Given the description of an element on the screen output the (x, y) to click on. 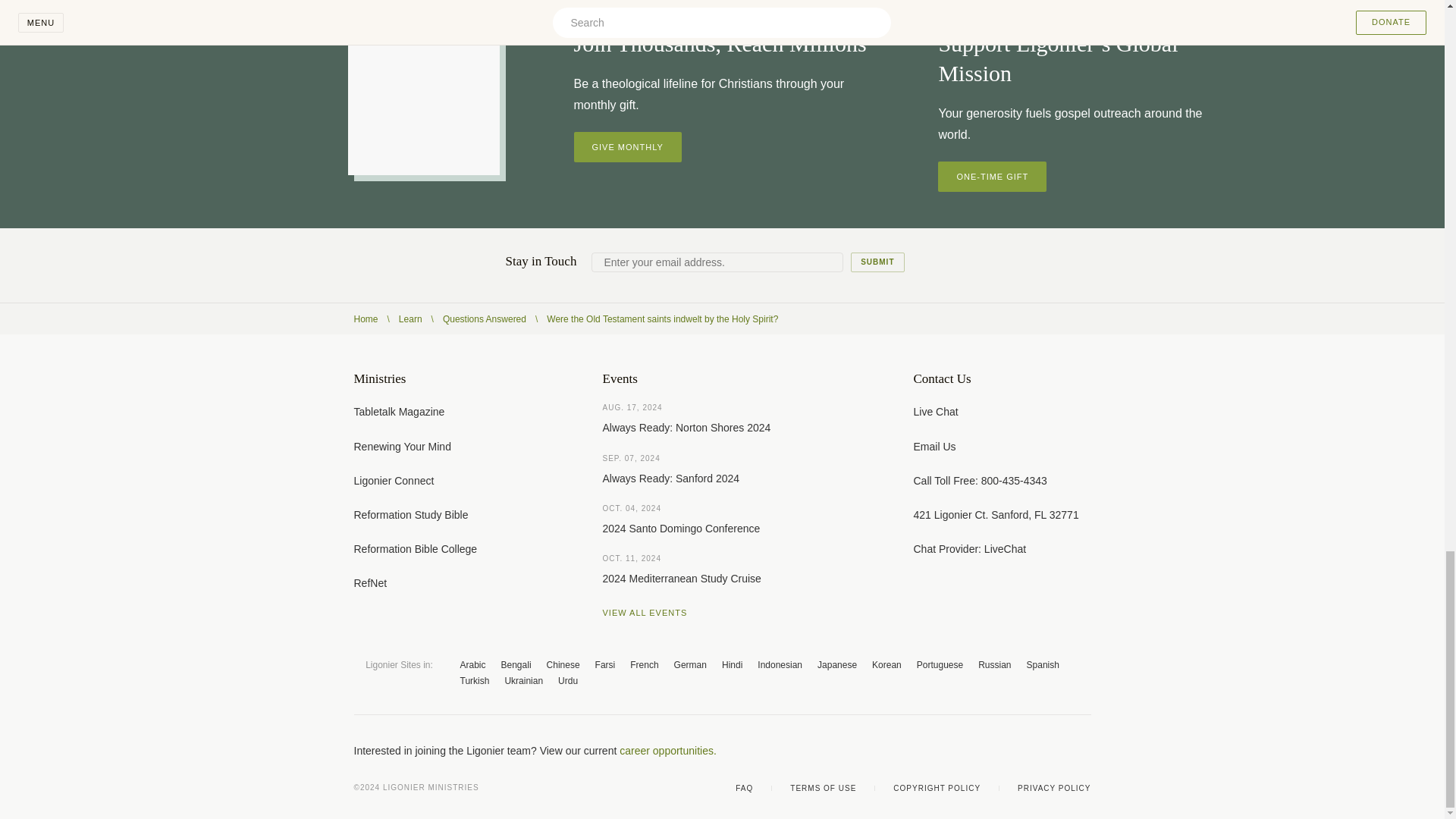
Linkedin (1083, 751)
Facebook (962, 751)
Instagram (1053, 751)
YouTube (1023, 751)
X (993, 751)
